Given the description of an element on the screen output the (x, y) to click on. 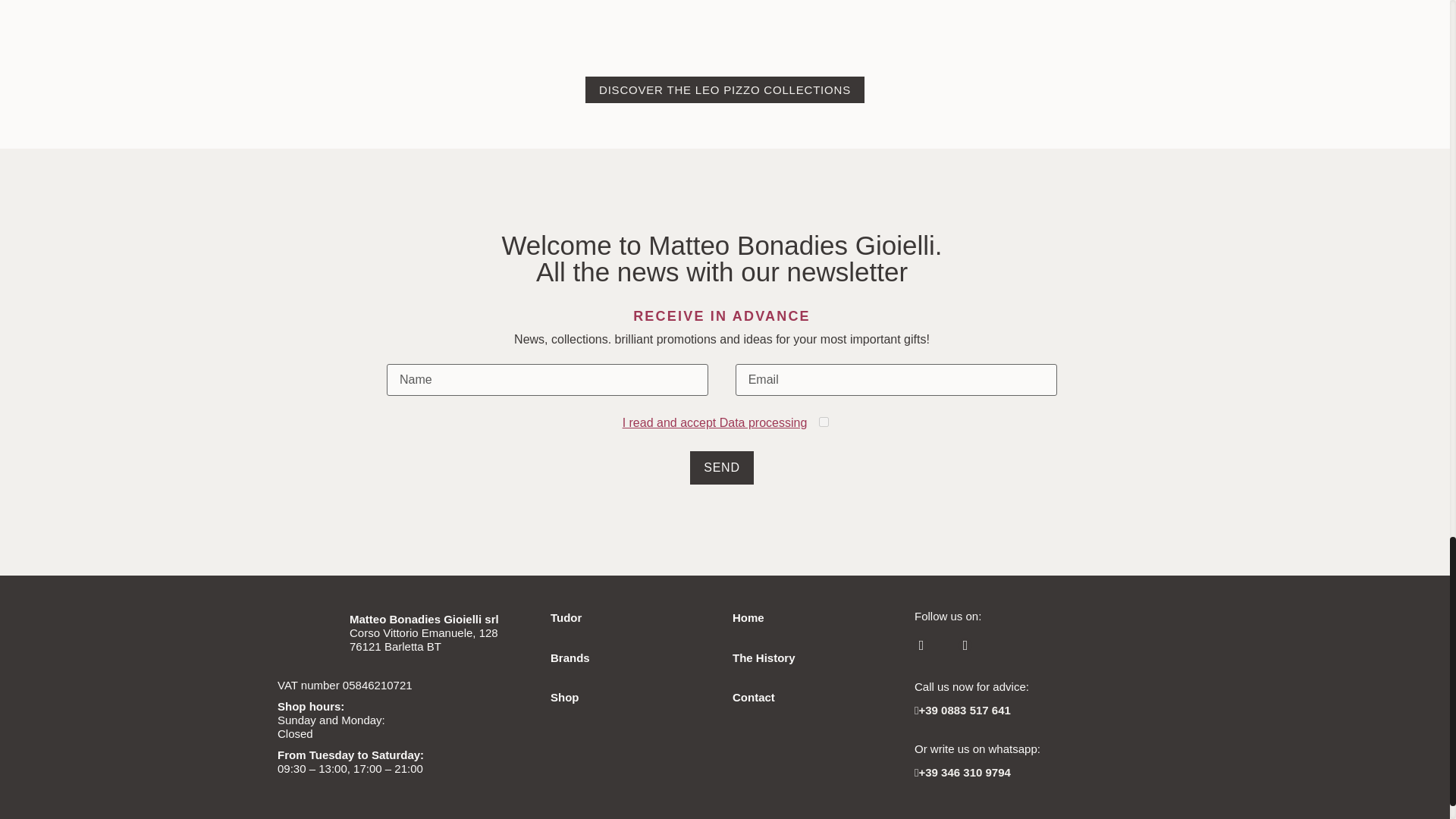
Send (722, 467)
DISCOVER THE LEO PIZZO COLLECTIONS (724, 89)
